Given the description of an element on the screen output the (x, y) to click on. 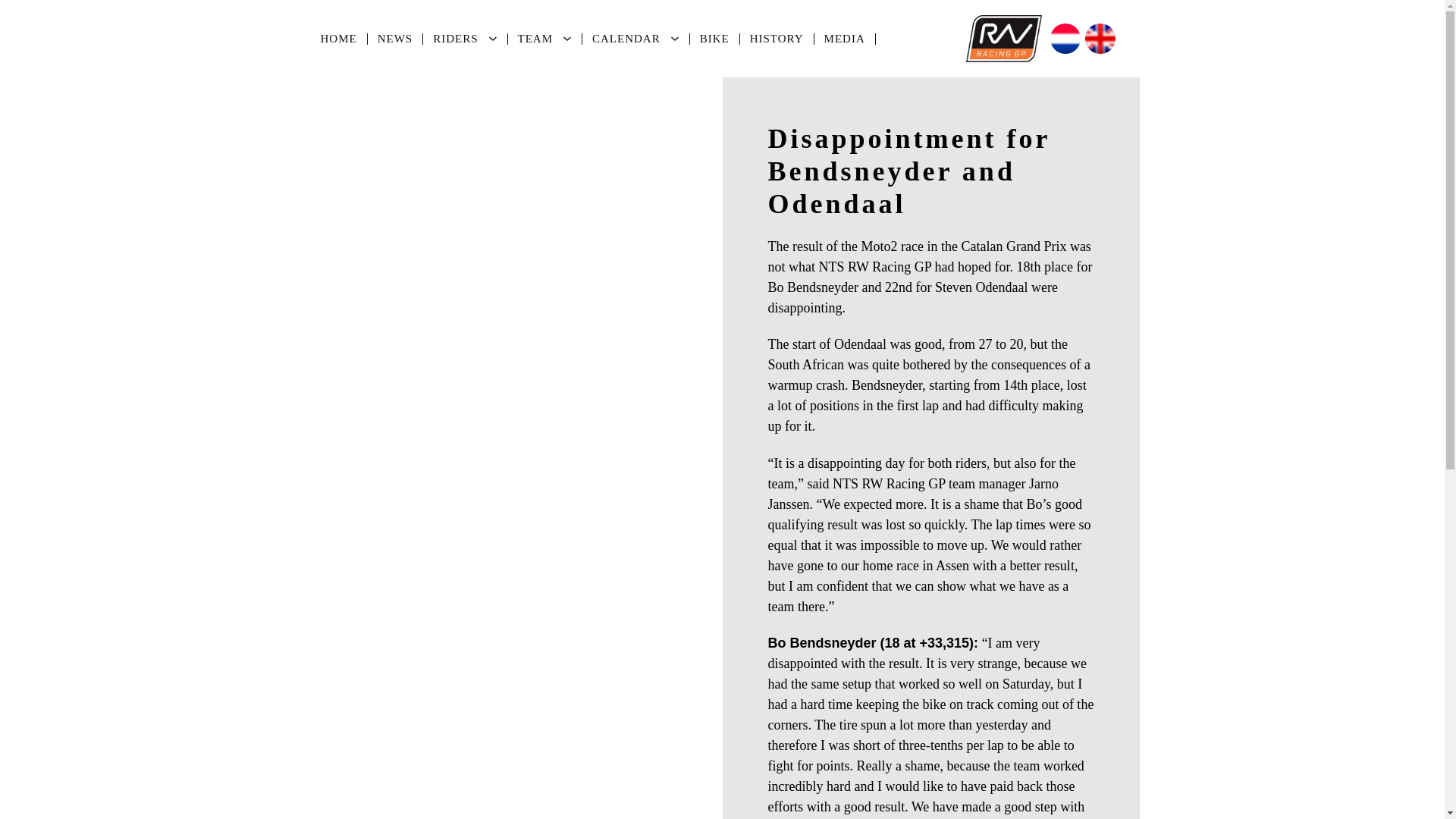
BIKE (714, 39)
HISTORY (776, 39)
CALENDAR (625, 39)
NEWS (395, 39)
TEAM (535, 39)
HOME (339, 39)
RIDERS (455, 39)
MEDIA (844, 39)
